Given the description of an element on the screen output the (x, y) to click on. 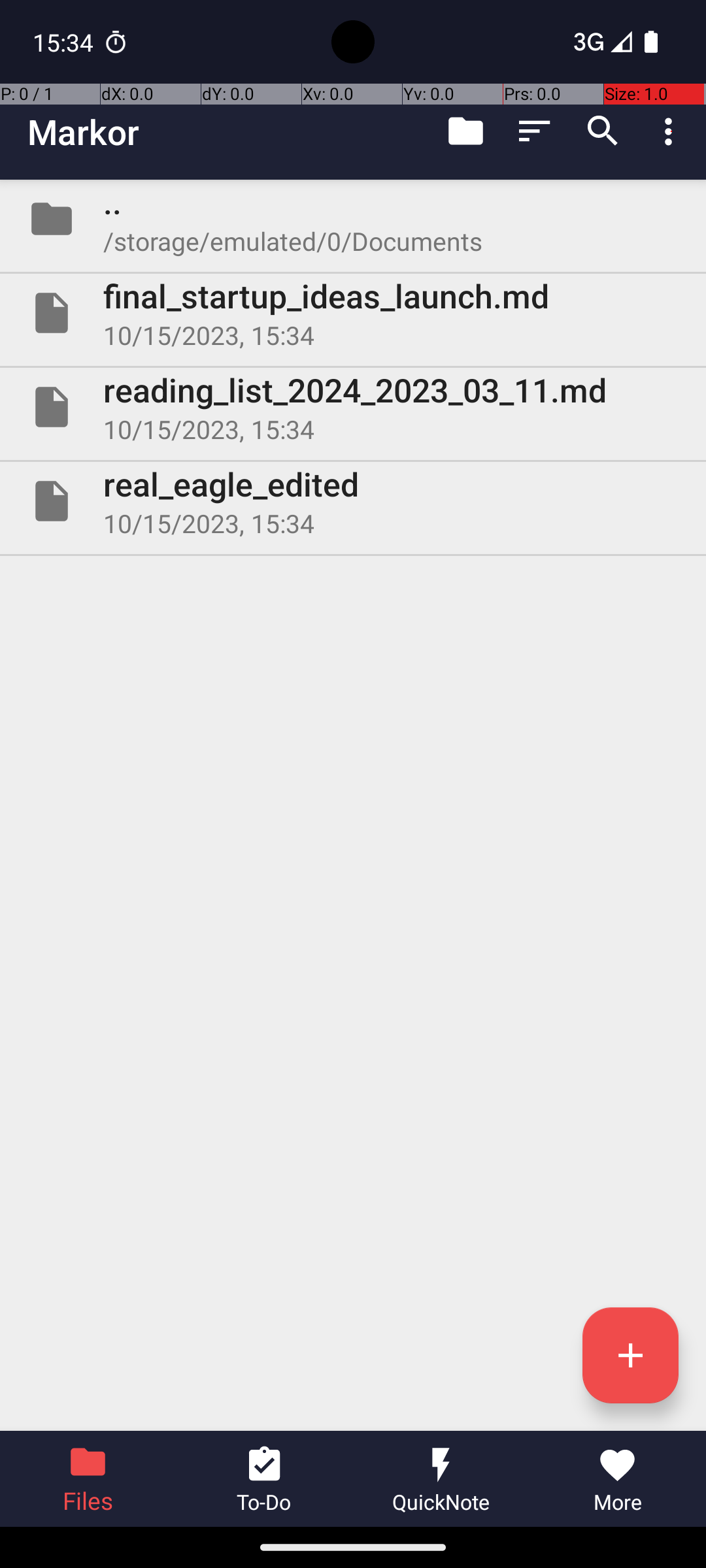
File final_startup_ideas_launch.md  Element type: android.widget.LinearLayout (353, 312)
File reading_list_2024_2023_03_11.md  Element type: android.widget.LinearLayout (353, 406)
File real_eagle_edited  Element type: android.widget.LinearLayout (353, 500)
